Given the description of an element on the screen output the (x, y) to click on. 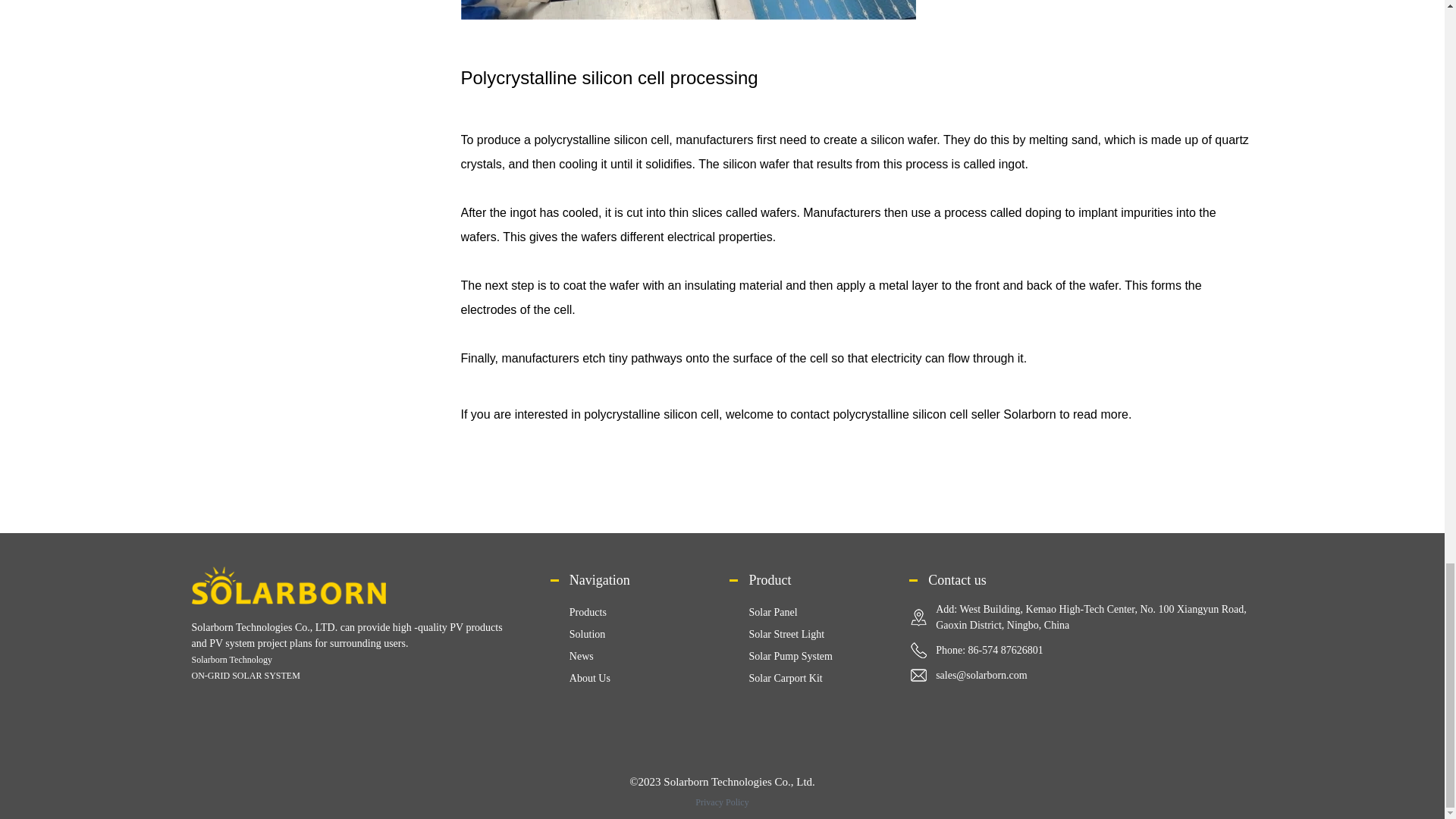
logo (287, 585)
Solution (587, 633)
Polycrystalline silicon cell processing (688, 9)
Products (588, 612)
